Given the description of an element on the screen output the (x, y) to click on. 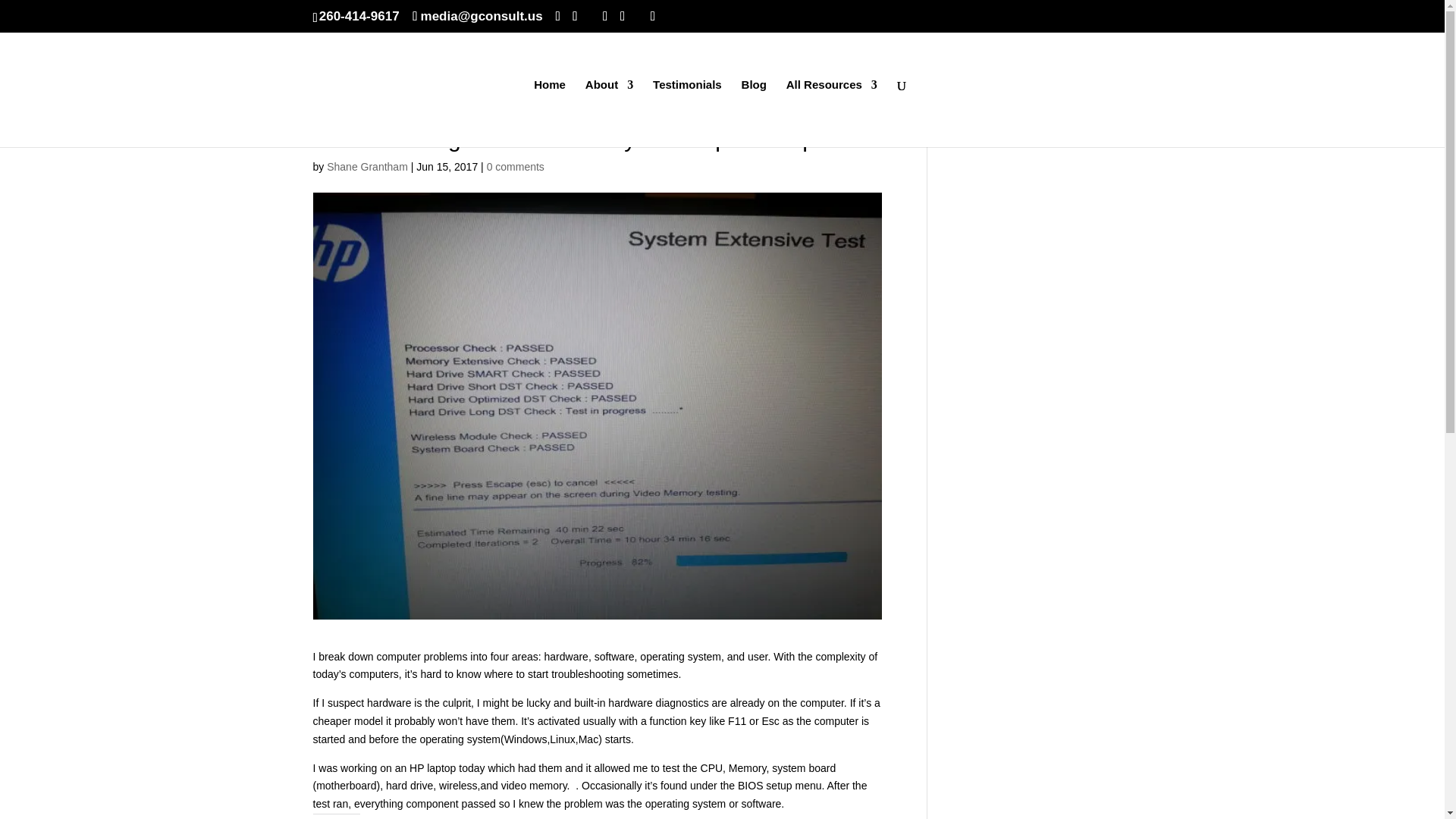
0 comments (515, 166)
Shane Grantham (366, 166)
All Resources (831, 113)
Testimonials (687, 113)
Posts by Shane Grantham (366, 166)
